Given the description of an element on the screen output the (x, y) to click on. 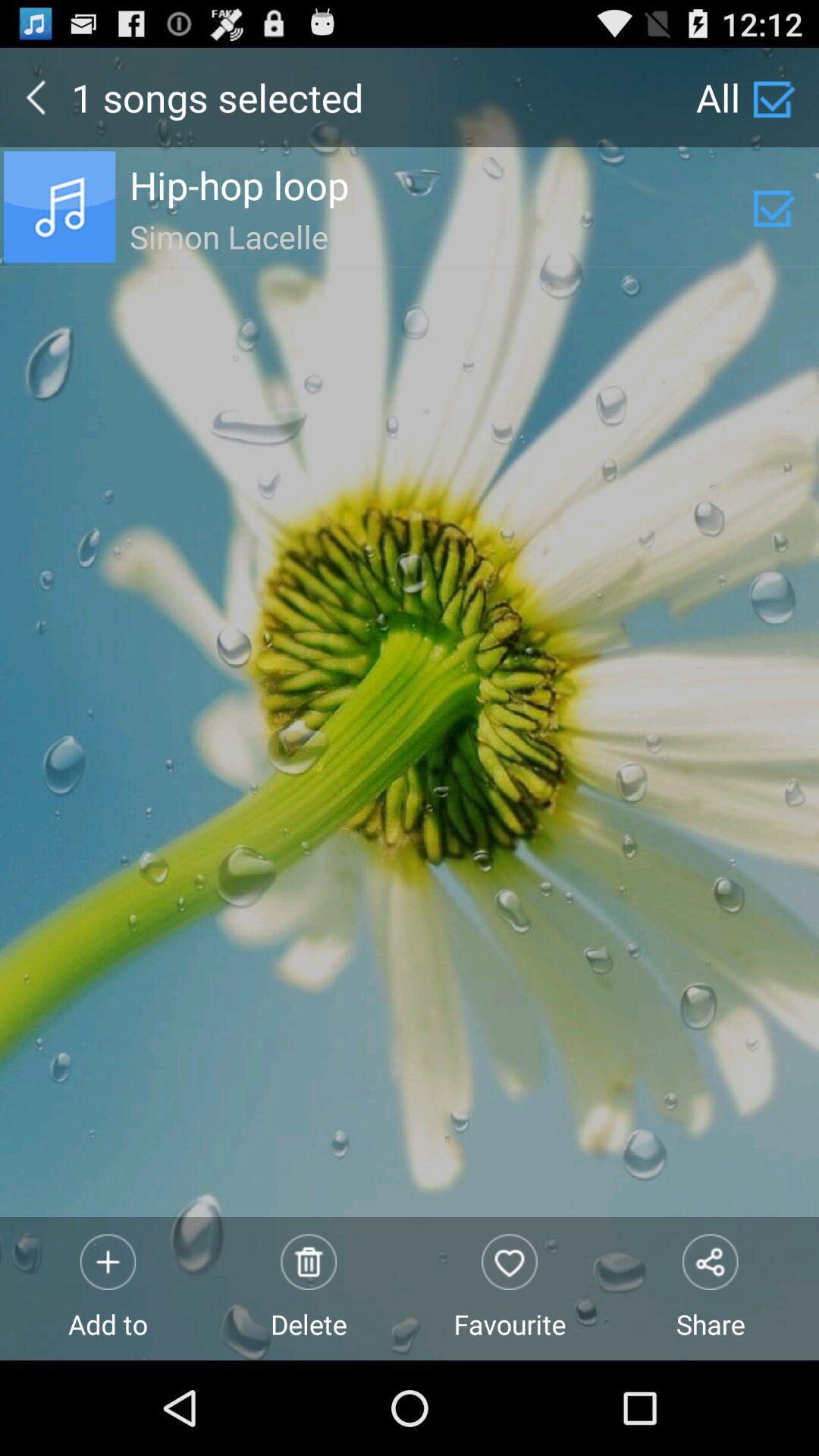
jump to share (710, 1288)
